Given the description of an element on the screen output the (x, y) to click on. 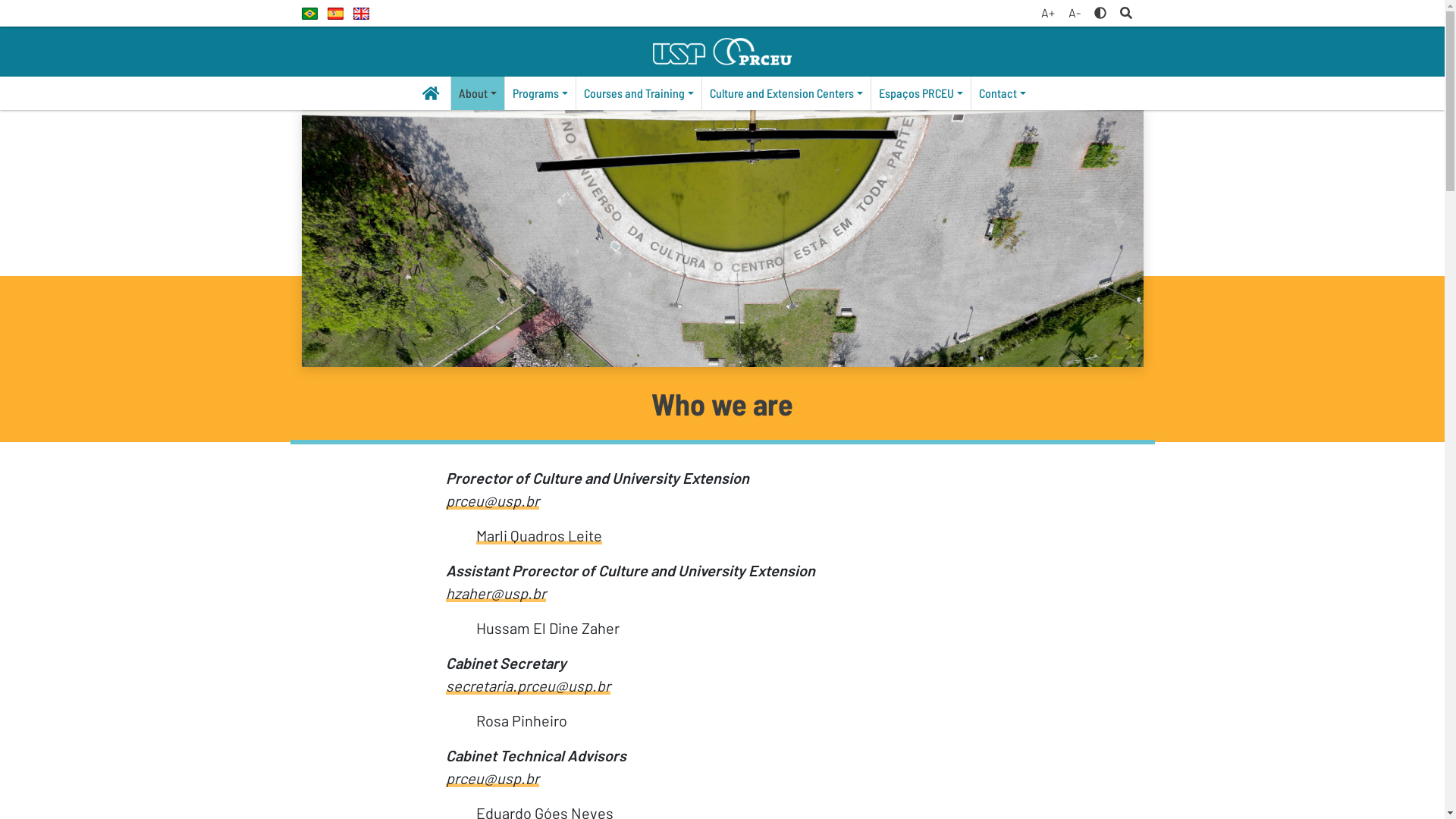
Courses and Training Element type: text (638, 92)
Who we are Element type: hover (722, 238)
prceu@usp.br Element type: text (492, 777)
hzaher@usp.br Element type: text (495, 592)
Programs Element type: text (540, 92)
prceu@usp.br Element type: text (492, 500)
secretaria.prceu@usp.br Element type: text (527, 685)
Marli Quadros Leite Element type: text (539, 535)
Culture and Extension Centers Element type: text (786, 92)
About Element type: text (477, 92)
Contact Element type: text (1002, 92)
